Given the description of an element on the screen output the (x, y) to click on. 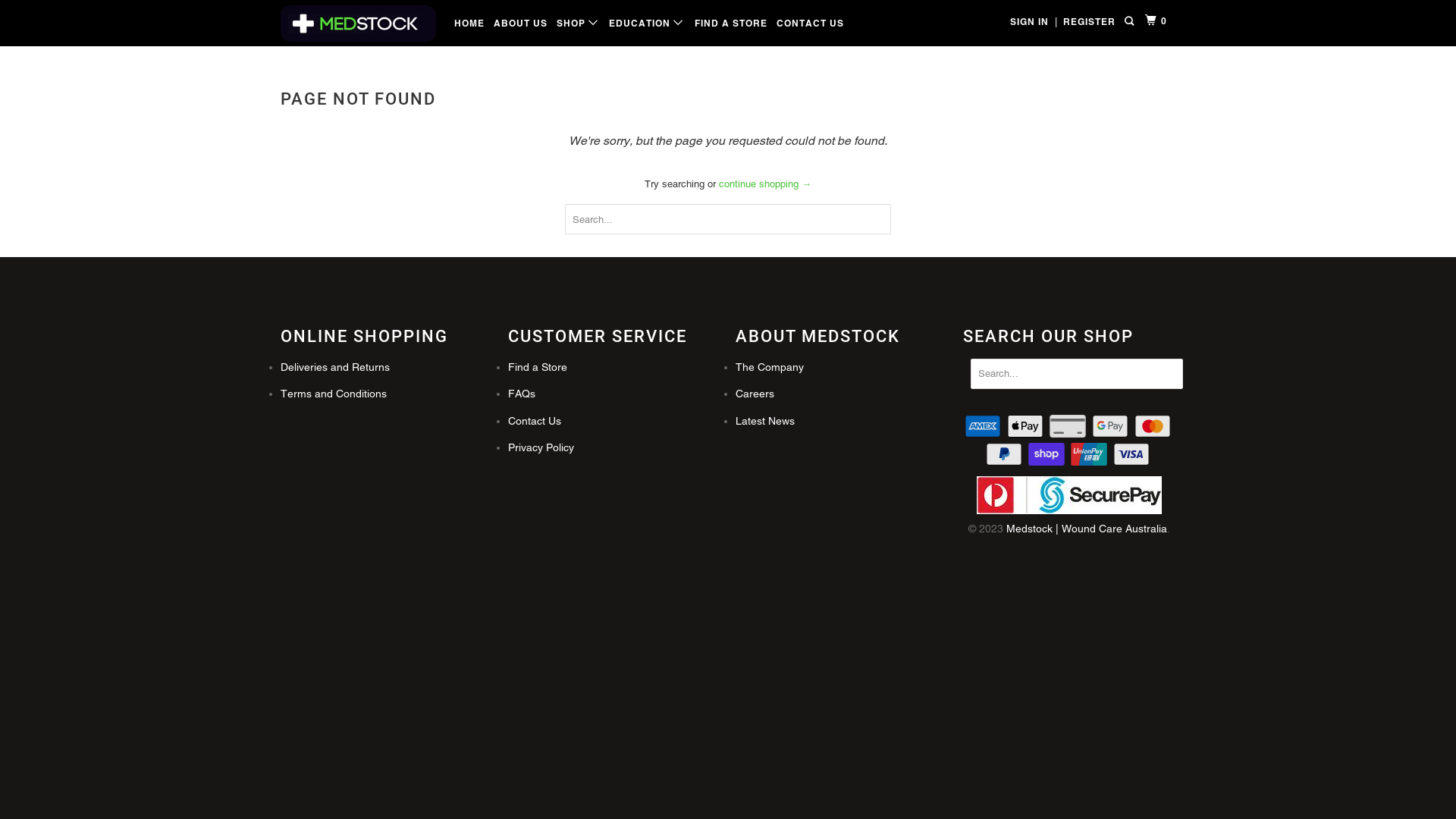
Deliveries and Returns Element type: text (334, 366)
0 Element type: text (1157, 20)
EDUCATION Element type: text (646, 23)
Terms and Conditions Element type: text (333, 393)
The Company Element type: text (769, 366)
Contact Us Element type: text (534, 420)
HOME Element type: text (469, 23)
SIGN IN Element type: text (1029, 21)
Medstock | Wound Care Australia Element type: hover (358, 23)
FIND A STORE Element type: text (730, 23)
Latest News Element type: text (764, 420)
SHOP Element type: text (577, 23)
Privacy Policy Element type: text (541, 447)
Search Element type: hover (1130, 21)
Careers Element type: text (754, 393)
Find a Store Element type: text (537, 366)
ABOUT US Element type: text (520, 23)
FAQs Element type: text (521, 393)
CONTACT US Element type: text (810, 23)
REGISTER Element type: text (1089, 21)
Medstock | Wound Care Australia Element type: text (1086, 528)
